Given the description of an element on the screen output the (x, y) to click on. 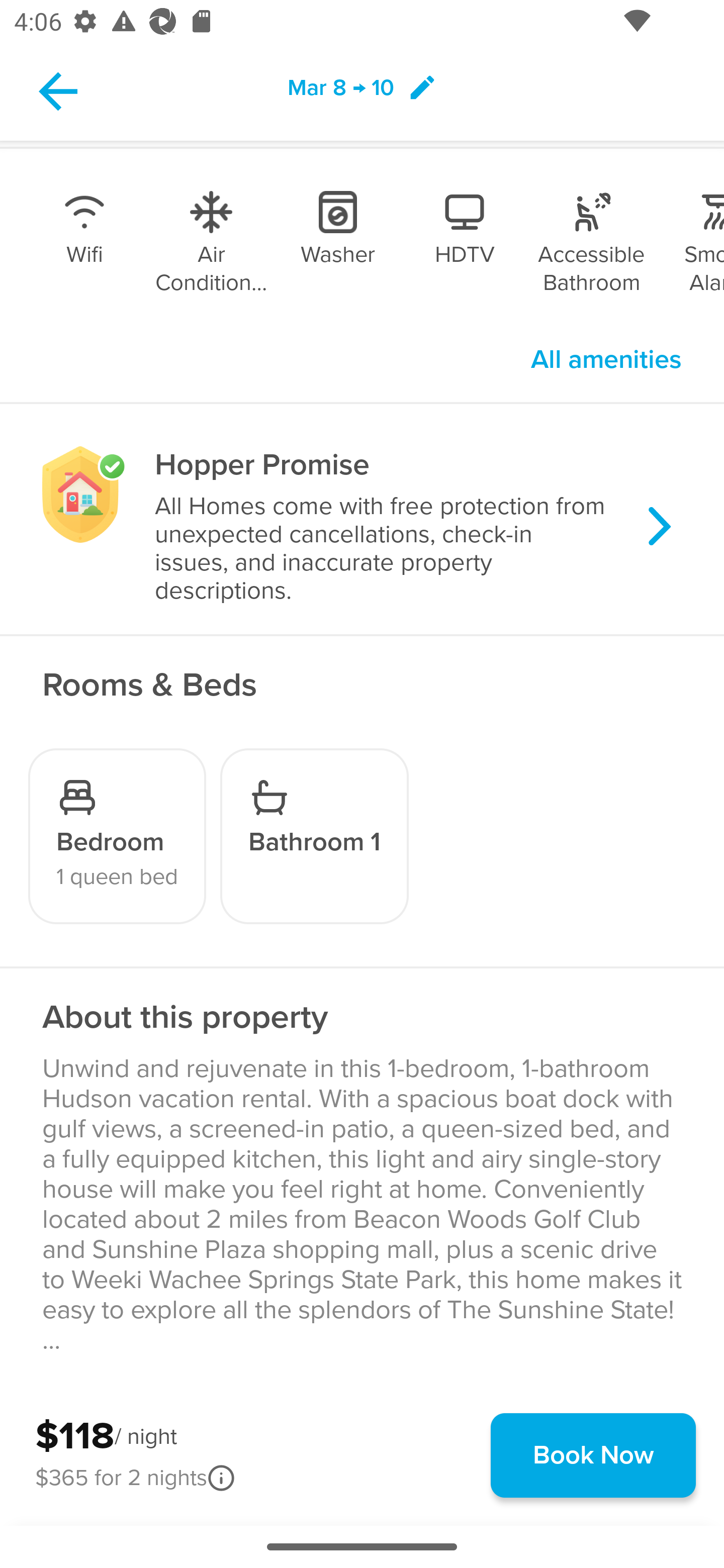
Mar 8 → 10 (361, 90)
All amenities (606, 359)
Book Now (592, 1454)
